Given the description of an element on the screen output the (x, y) to click on. 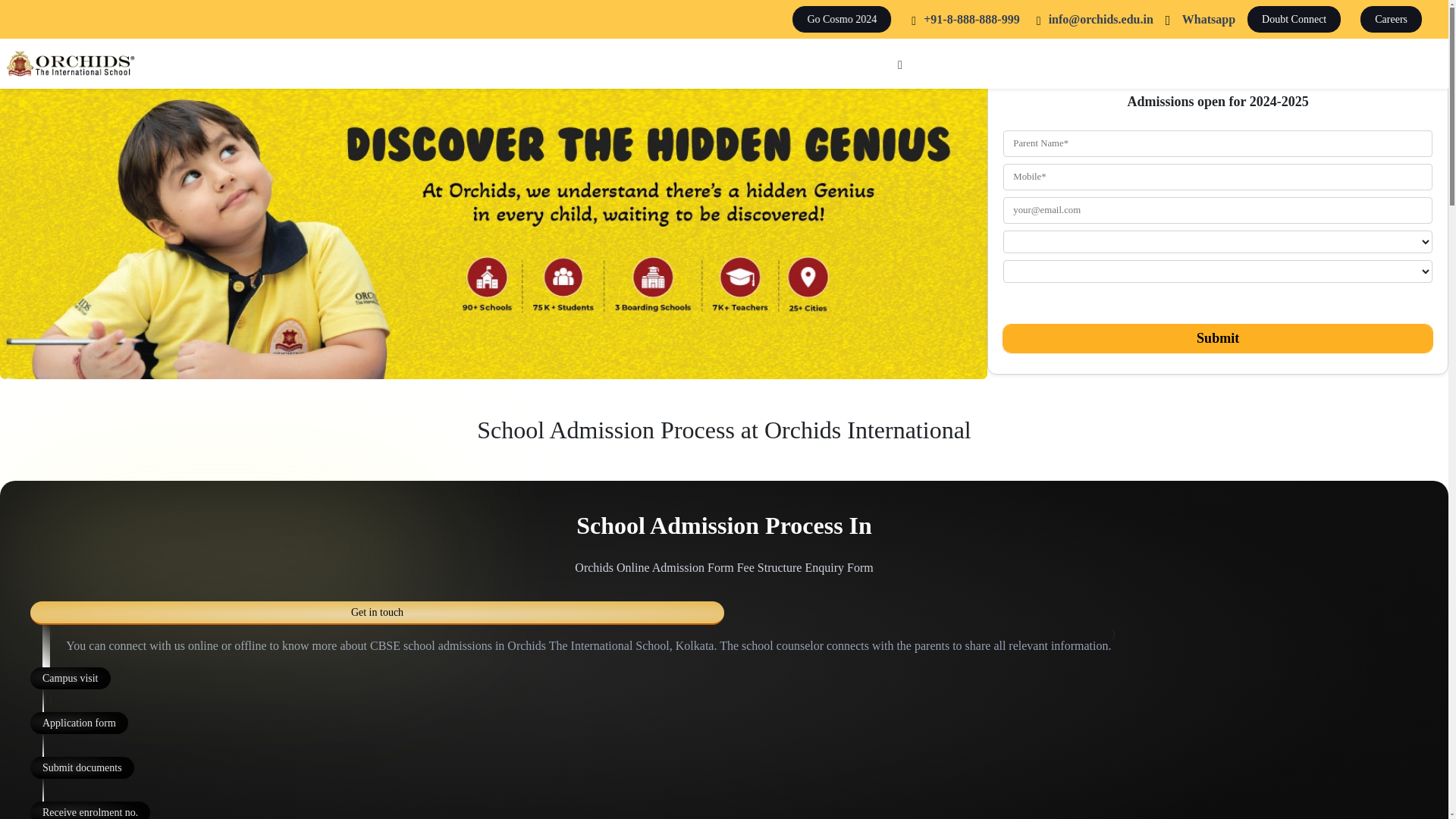
Doubt Connect (1297, 18)
Email (1092, 19)
Go Cosmo 2024 (835, 18)
Whatsapp (1200, 19)
Go Cosmo 2024 (835, 18)
Careers (1394, 18)
Submit (1217, 338)
Careers (1394, 18)
Please enter a 10-digit numeric mobile number. (1217, 176)
Contact no. (963, 19)
